Given the description of an element on the screen output the (x, y) to click on. 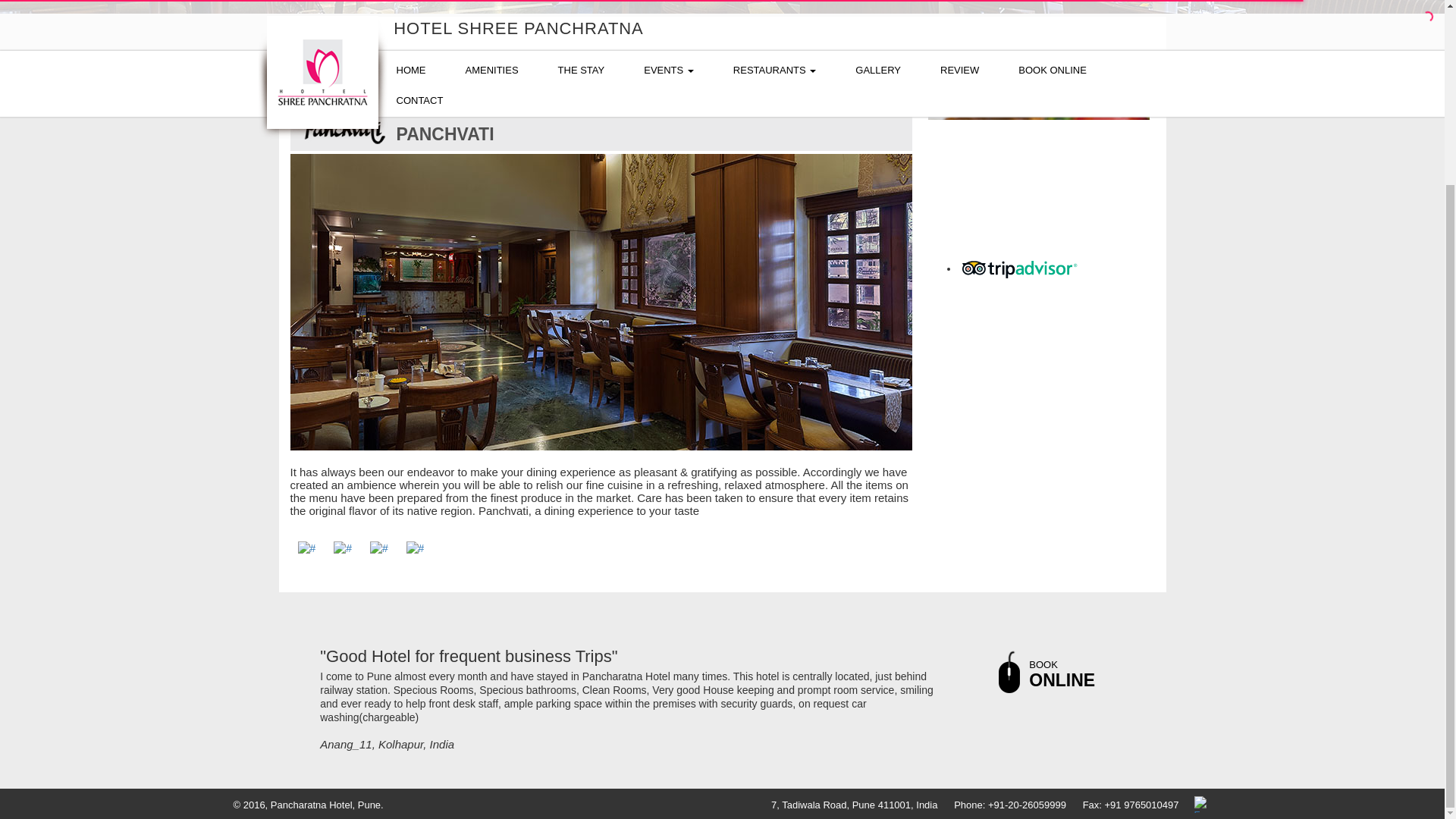
Home (314, 71)
Restaurants (373, 71)
